Given the description of an element on the screen output the (x, y) to click on. 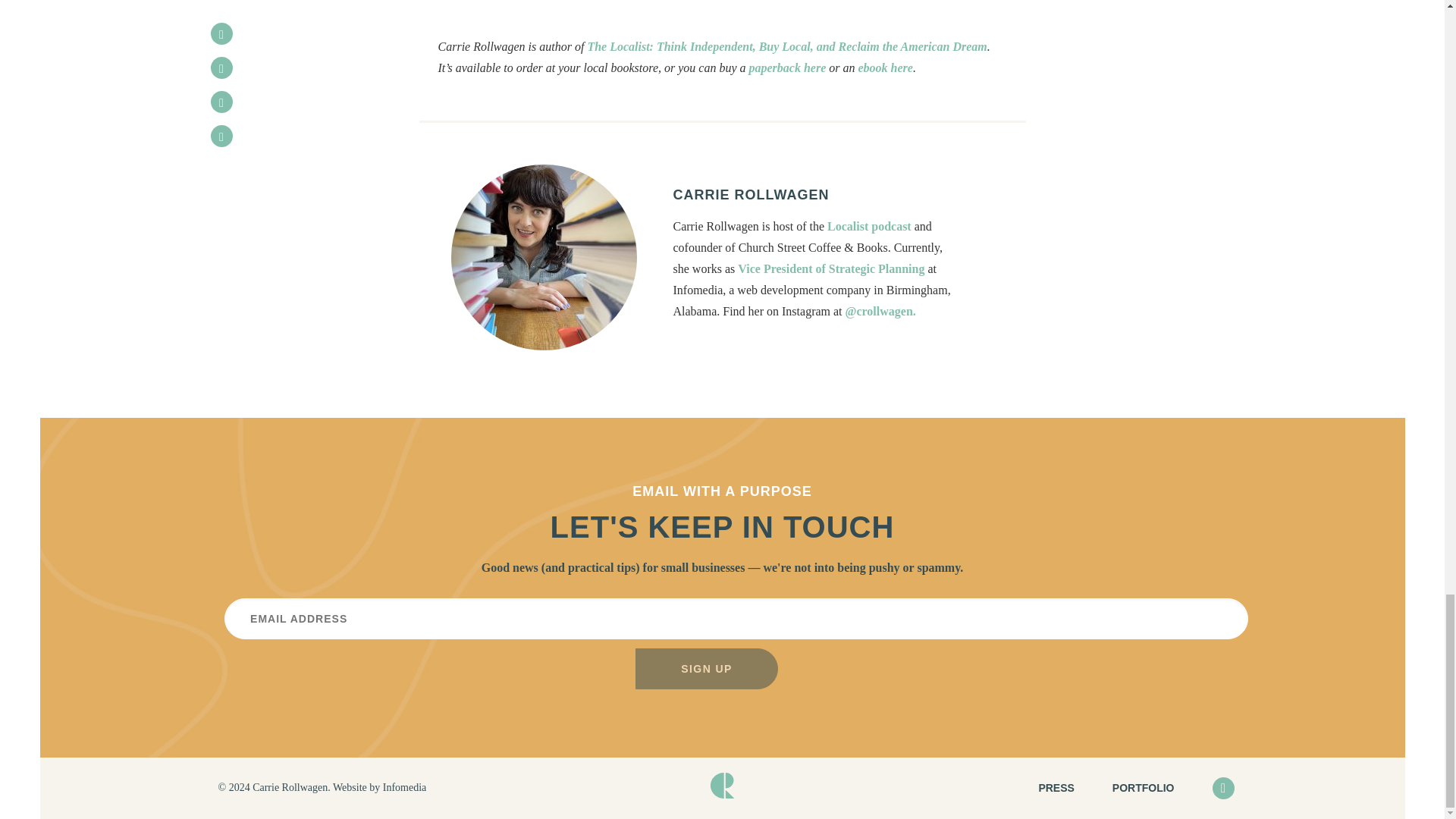
Sign Up (705, 668)
paperback here (788, 67)
